Given the description of an element on the screen output the (x, y) to click on. 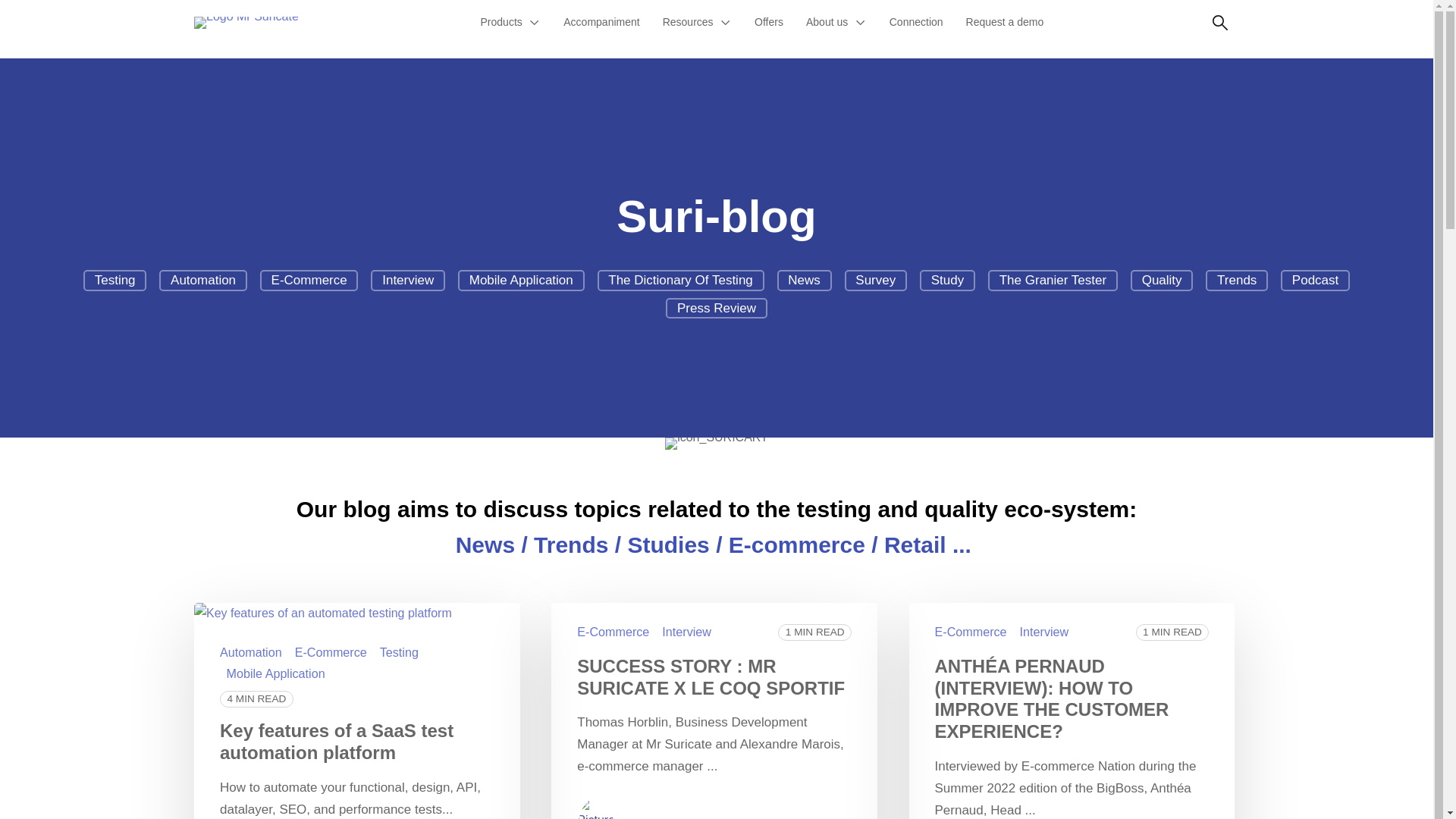
Resources (696, 22)
Offers (768, 22)
Logo Mr Suricate (245, 22)
About us (835, 22)
Accompaniment (600, 22)
Request a demo (1005, 22)
Connection (916, 22)
Products (510, 22)
